Given the description of an element on the screen output the (x, y) to click on. 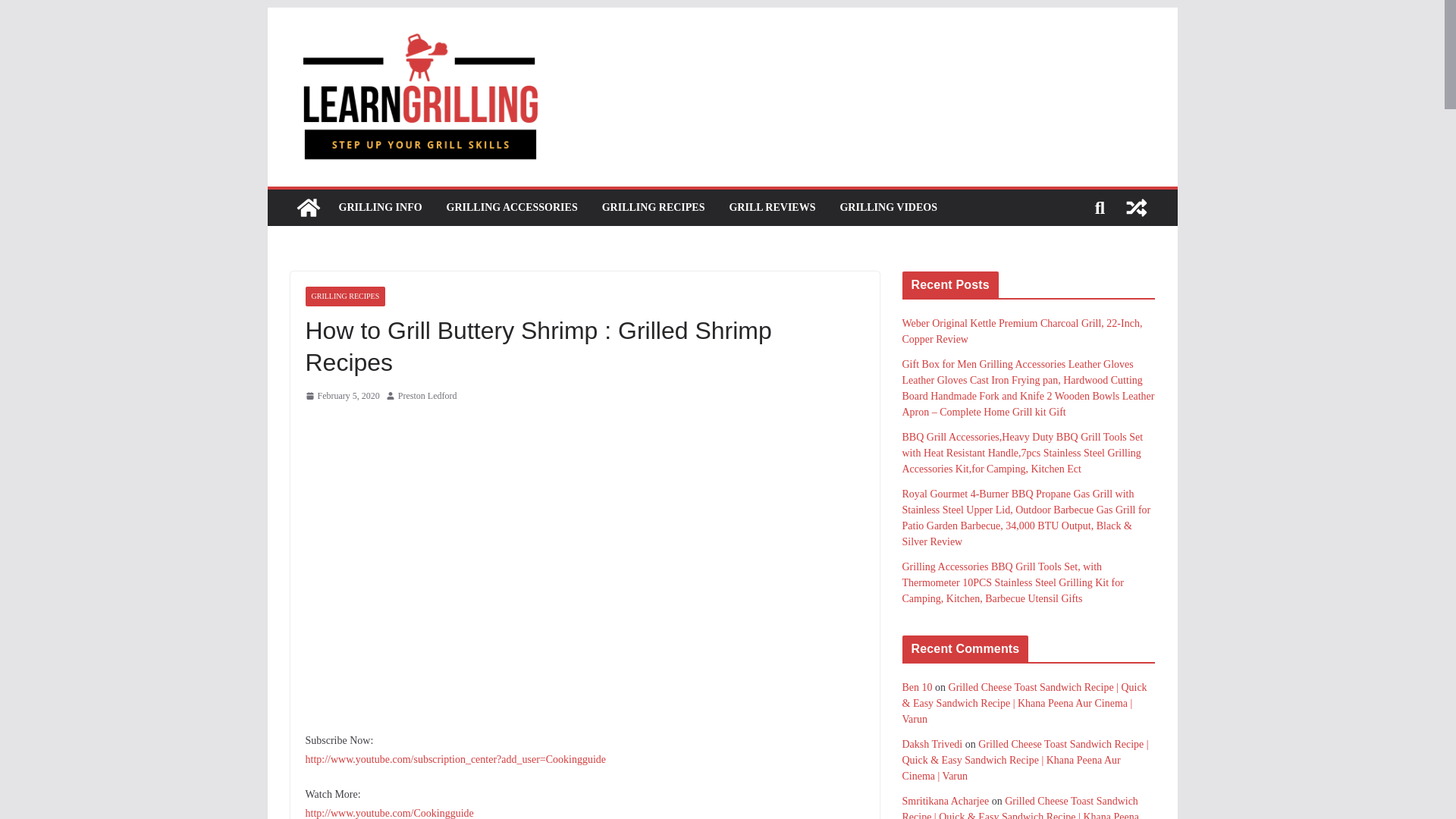
GRILL REVIEWS (772, 207)
GRILLING RECIPES (653, 207)
GRILLING RECIPES (344, 296)
LearnGrilling.com (307, 207)
Preston Ledford (427, 396)
View a random post (1136, 207)
February 5, 2020 (341, 396)
2:31 pm (341, 396)
GRILLING INFO (379, 207)
